Given the description of an element on the screen output the (x, y) to click on. 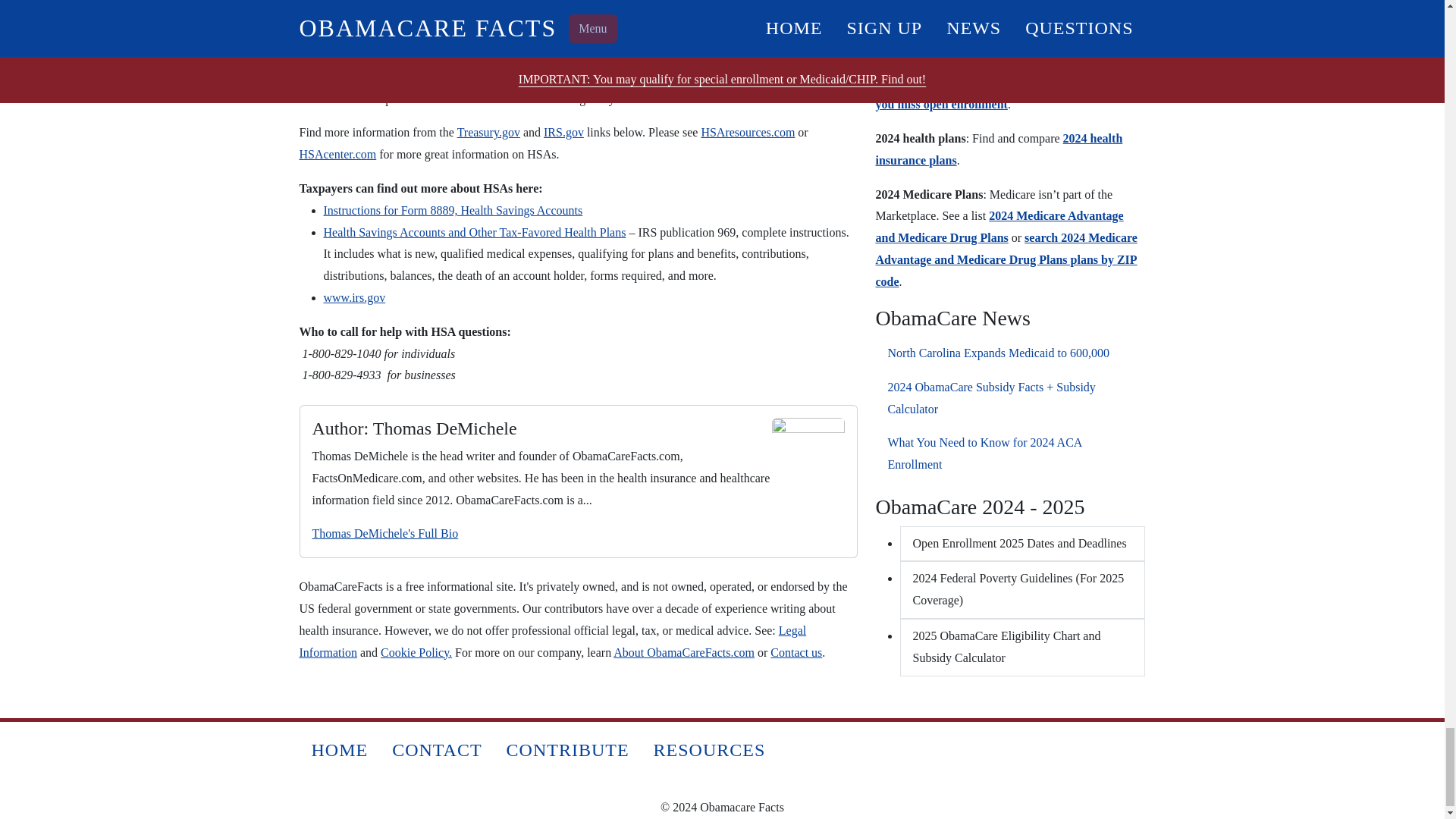
HSA resources (747, 132)
HSA center (336, 154)
treasury.gov HSAs (488, 132)
IRS HSA (563, 132)
